Given the description of an element on the screen output the (x, y) to click on. 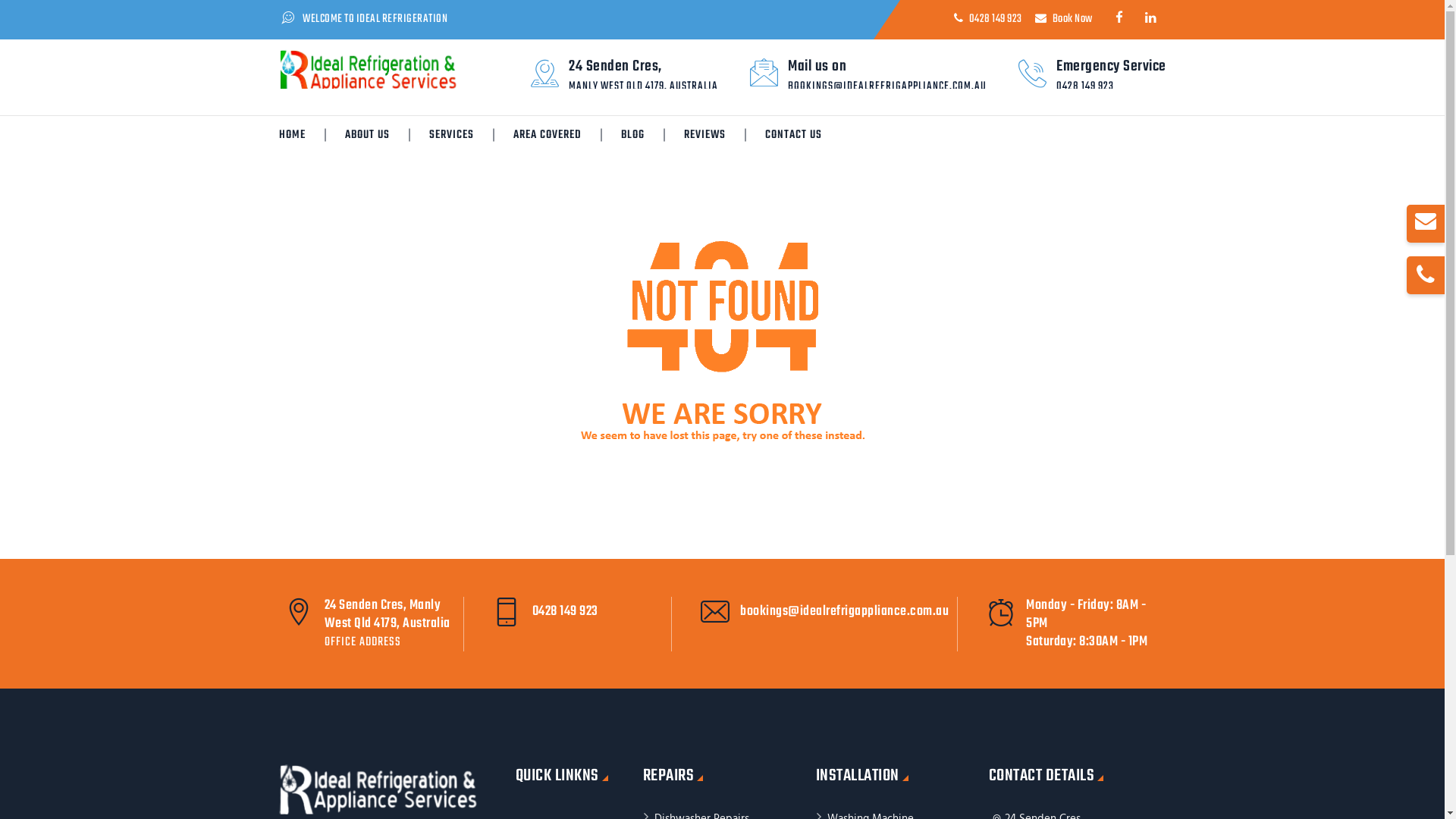
0428 149 923 Element type: text (995, 18)
MANLY WEST QLD 4179, AUSTRALIA Element type: text (643, 86)
AREA COVERED Element type: text (547, 134)
BOOKINGS@IDEALREFRIGAPPLIANCE.COM.AU Element type: text (886, 86)
0428 149 923 Element type: text (1084, 86)
BLOG Element type: text (632, 134)
24 Senden Cres, Element type: text (615, 67)
0428 149 923 Element type: text (601, 608)
ABOUT US Element type: text (367, 134)
idealrefrigappliance.com.au Element type: hover (374, 71)
CONTACT US Element type: text (793, 134)
bookings@idealrefrigappliance.com.au Element type: text (844, 608)
HOME Element type: text (291, 134)
Book Now Element type: text (1072, 18)
REVIEWS Element type: text (703, 134)
SERVICES Element type: text (450, 134)
